Given the description of an element on the screen output the (x, y) to click on. 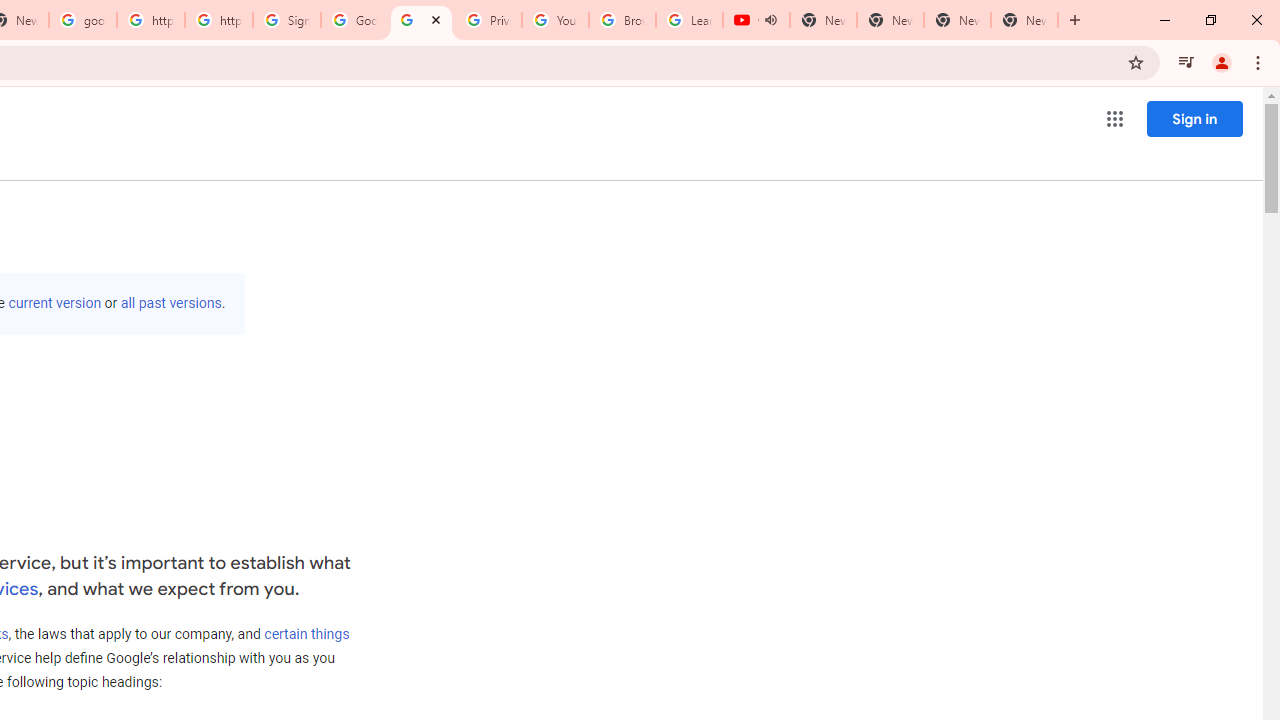
New Tab (1024, 20)
YouTube (555, 20)
https://scholar.google.com/ (150, 20)
current version (54, 303)
Sign in - Google Accounts (287, 20)
